Given the description of an element on the screen output the (x, y) to click on. 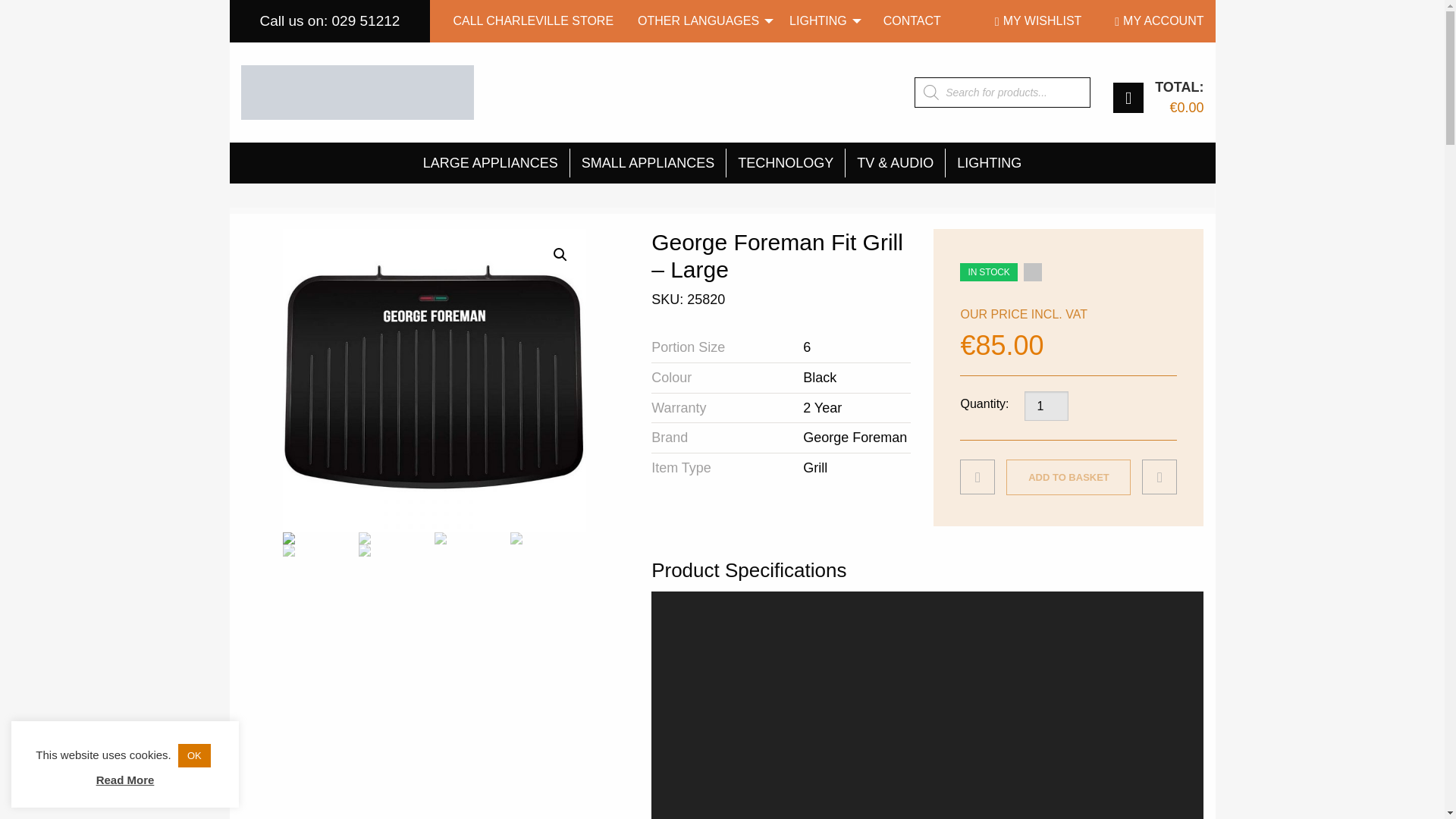
SMALL APPLIANCES (647, 162)
CONTACT (911, 21)
LIGHTING (820, 21)
CALL CHARLEVILLE STORE (533, 21)
25820 1 (434, 380)
LARGE APPLIANCES (490, 162)
Call us on: 029 51212 (328, 21)
OTHER LANGUAGES (701, 21)
